Given the description of an element on the screen output the (x, y) to click on. 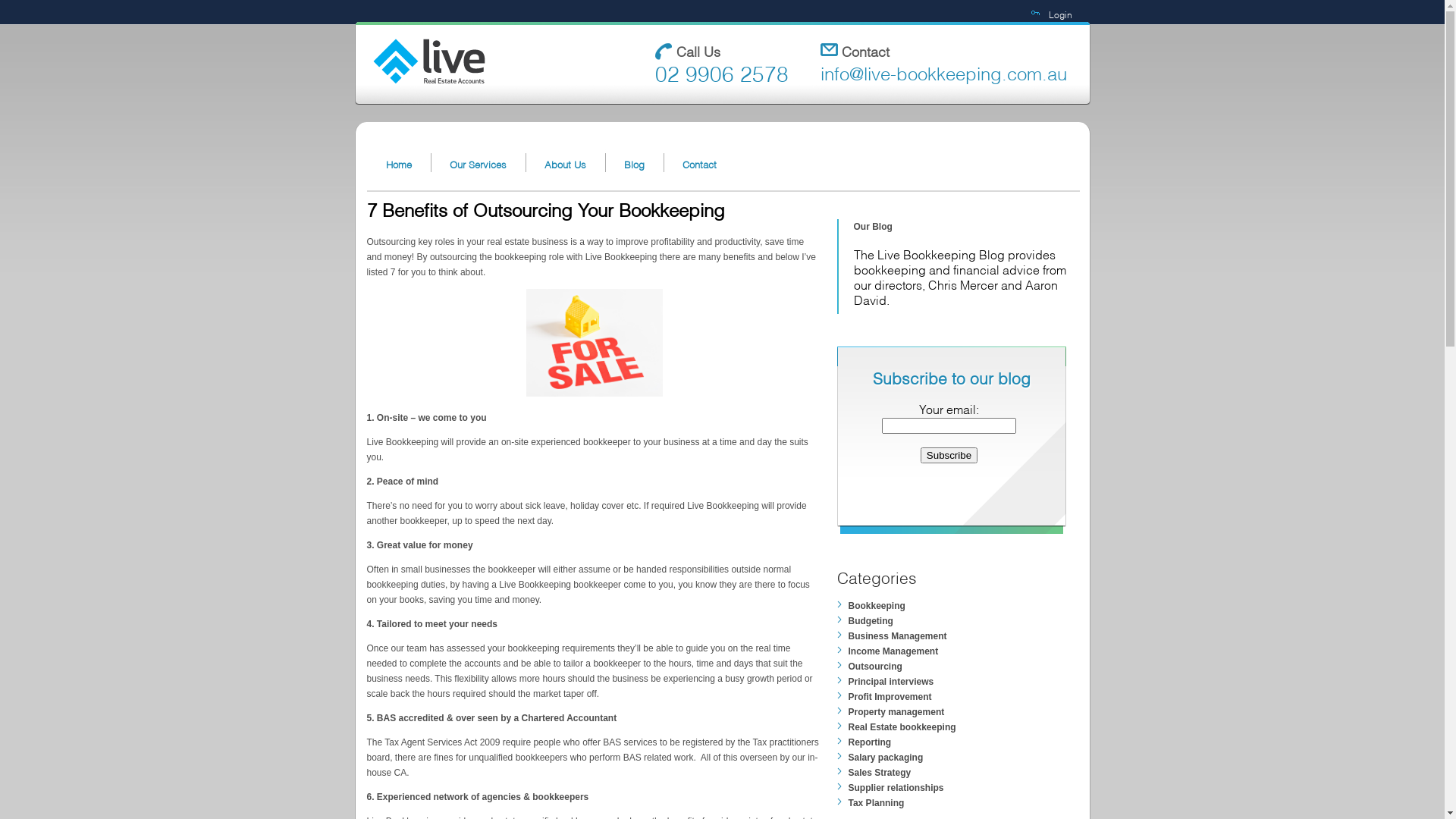
Reporting Element type: text (967, 741)
Our Services Element type: text (477, 163)
Login Element type: text (1059, 13)
Principal interviews Element type: text (967, 681)
Profit Improvement Element type: text (967, 696)
Income Management Element type: text (967, 650)
Supplier relationships Element type: text (967, 787)
Sales Strategy Element type: text (967, 772)
About Us Element type: text (564, 163)
Contact Element type: text (698, 163)
Budgeting Element type: text (967, 620)
Home Element type: text (398, 163)
Bookkeeping Element type: text (967, 605)
Real Estate bookkeeping Element type: text (967, 726)
Blog Element type: text (634, 163)
Tax Planning Element type: text (967, 802)
Business Management Element type: text (967, 635)
Search Element type: text (98, 11)
Salary packaging Element type: text (967, 757)
Outsourcing Element type: text (967, 666)
Subscribe Element type: text (948, 455)
info@live-bookkeeping.com.au Element type: text (943, 71)
Property management Element type: text (967, 711)
